Given the description of an element on the screen output the (x, y) to click on. 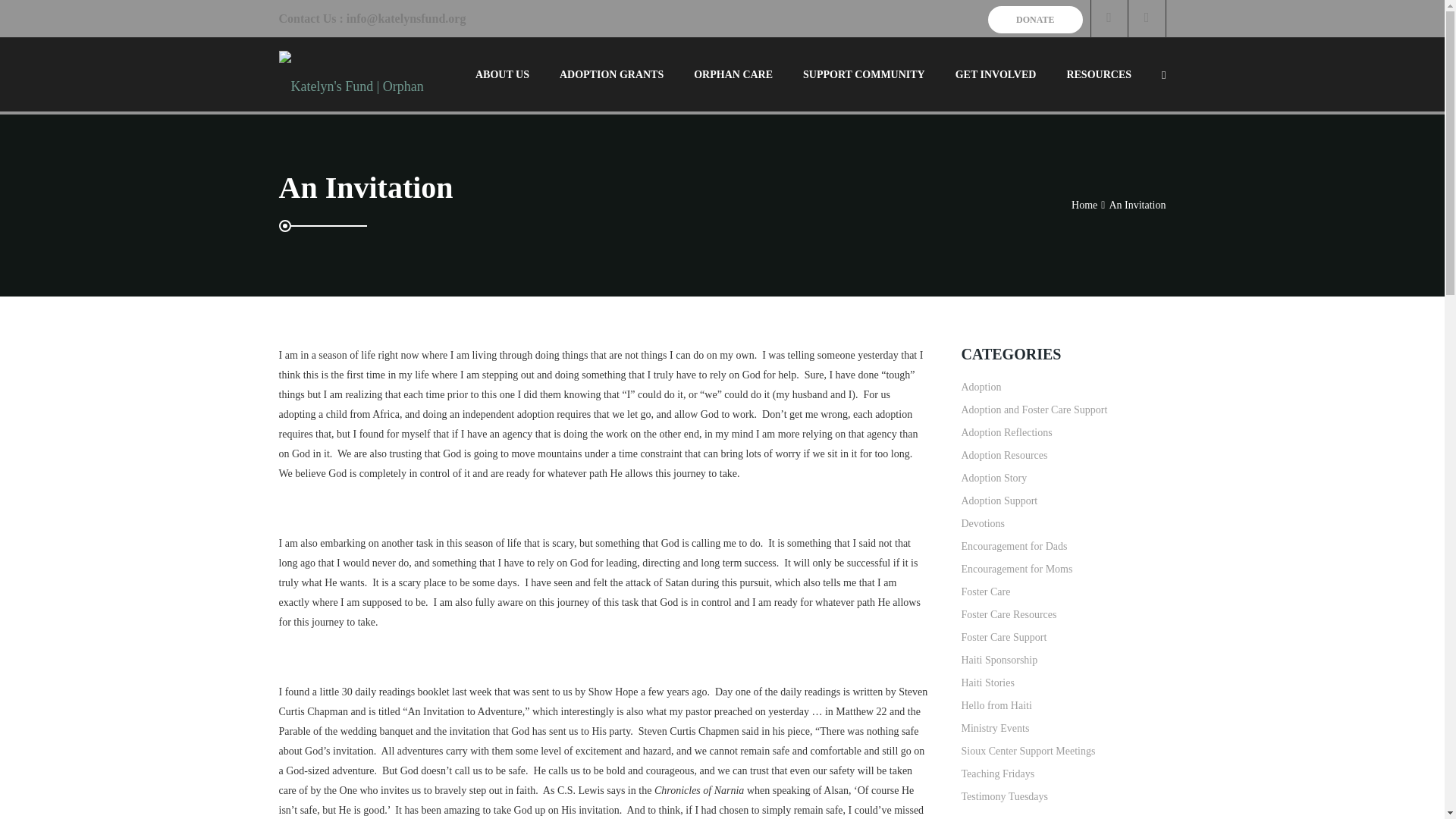
Adoption Grants (611, 74)
SUPPORT COMMUNITY (863, 74)
Get Involved (995, 74)
GET INVOLVED (995, 74)
ADOPTION GRANTS (611, 74)
Support Community (863, 74)
DONATE (1034, 19)
Orphan Care (733, 74)
ORPHAN CARE (733, 74)
